Given the description of an element on the screen output the (x, y) to click on. 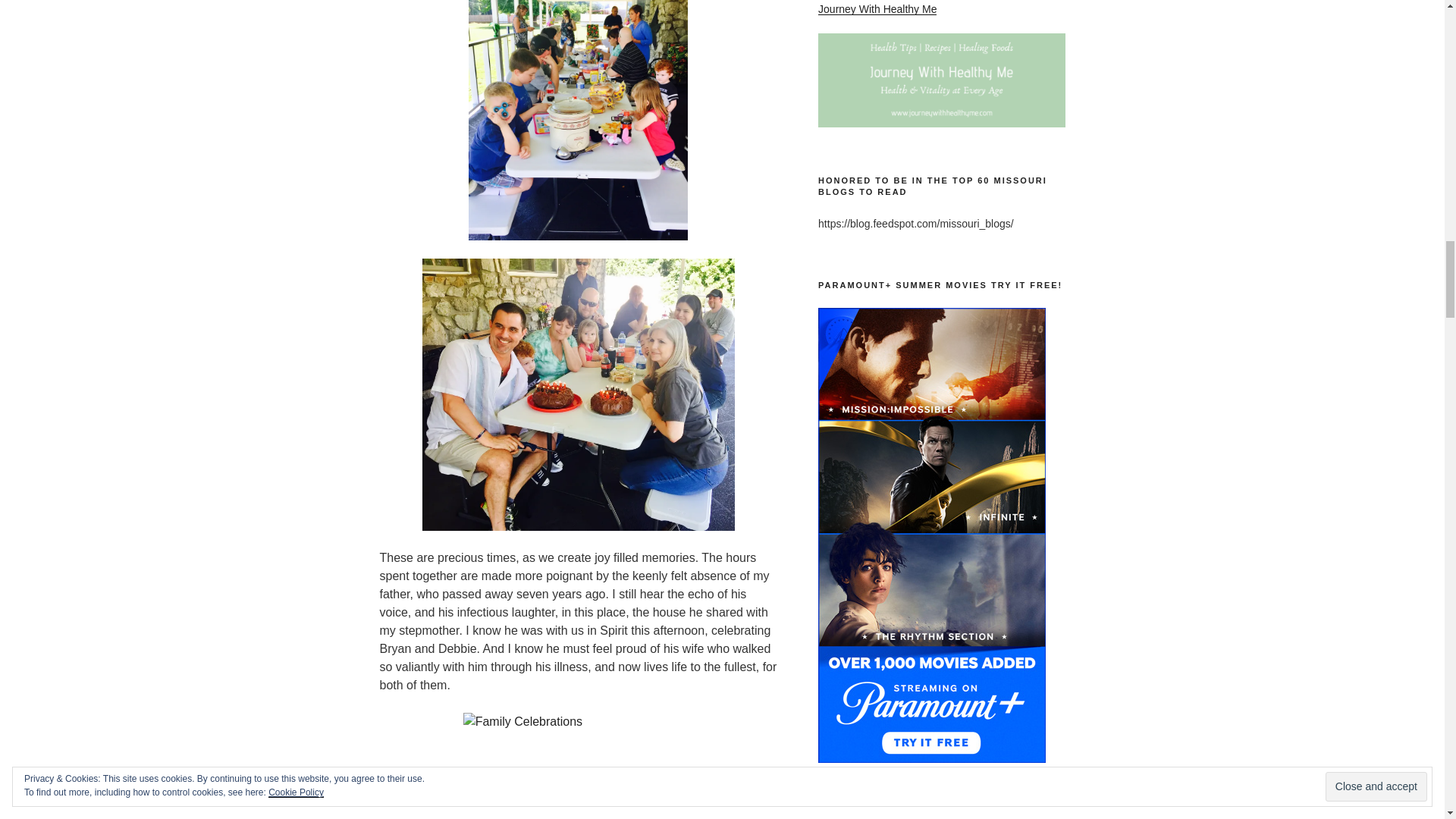
Journey With Healthy Me (877, 9)
Birthday cake time (578, 394)
Siblings (578, 765)
Family picnic (577, 120)
